Given the description of an element on the screen output the (x, y) to click on. 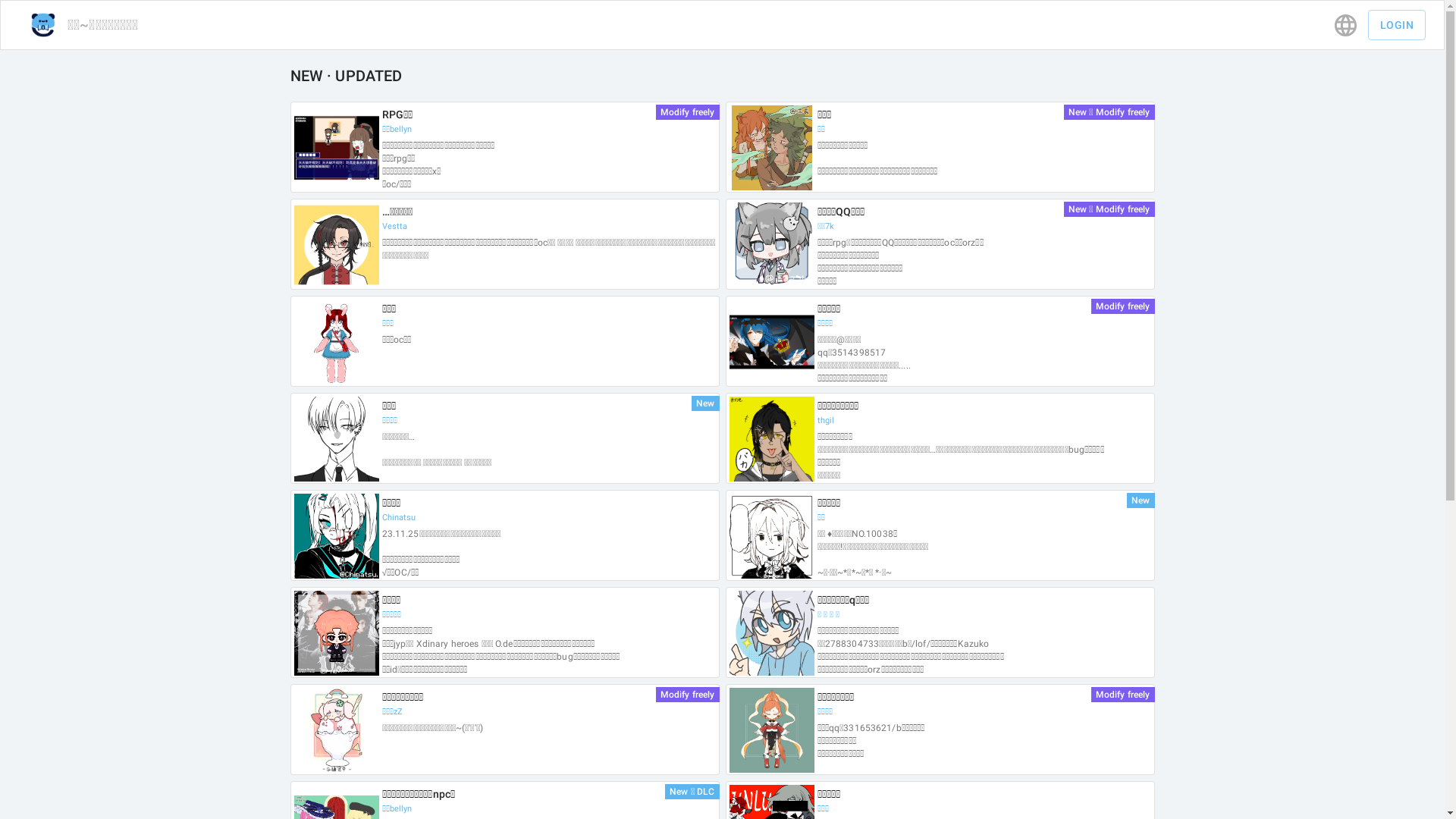
LOGIN Element type: text (1396, 24)
